Given the description of an element on the screen output the (x, y) to click on. 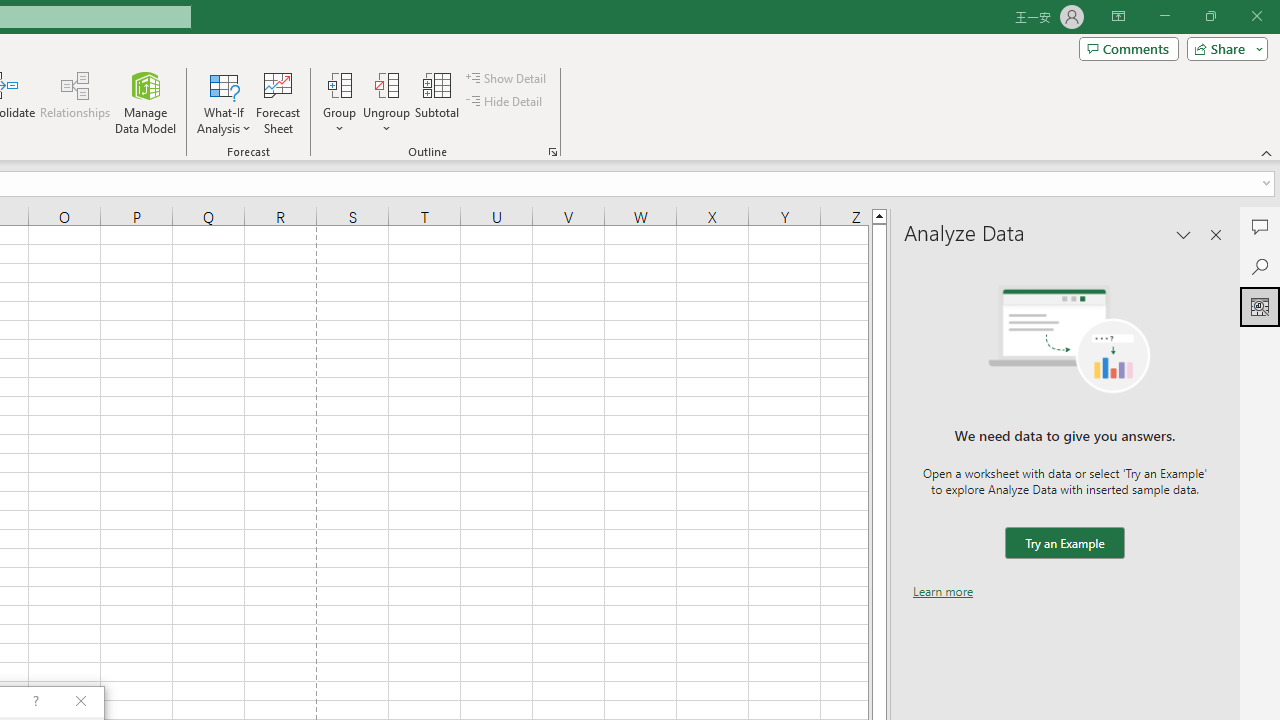
Search (1260, 266)
Manage Data Model (145, 102)
Group... (339, 84)
Learn more (943, 591)
More Options (386, 121)
Line up (879, 215)
Show Detail (507, 78)
Group... (339, 102)
Close pane (1215, 234)
Comments (1128, 48)
Ungroup... (386, 102)
Ribbon Display Options (1118, 16)
Subtotal (437, 102)
